Given the description of an element on the screen output the (x, y) to click on. 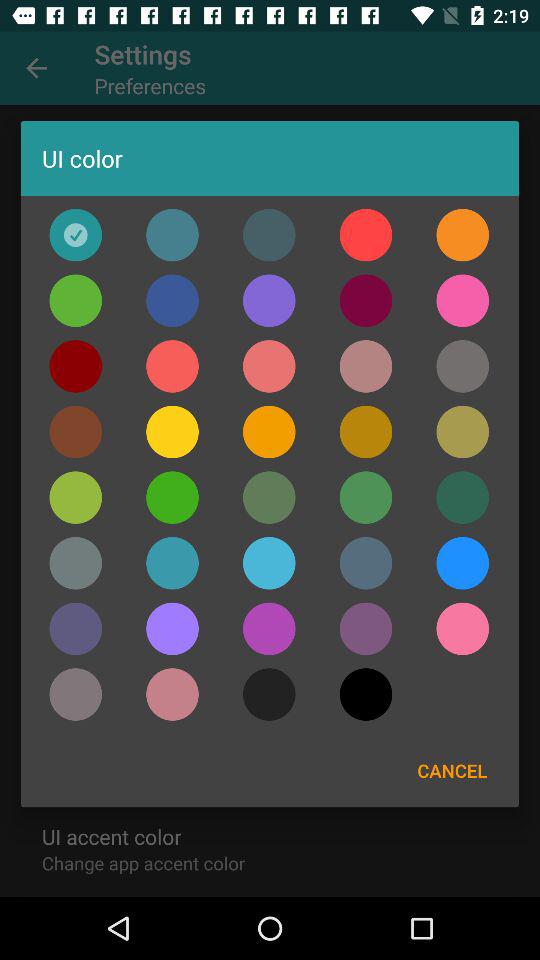
light green (172, 497)
